Given the description of an element on the screen output the (x, y) to click on. 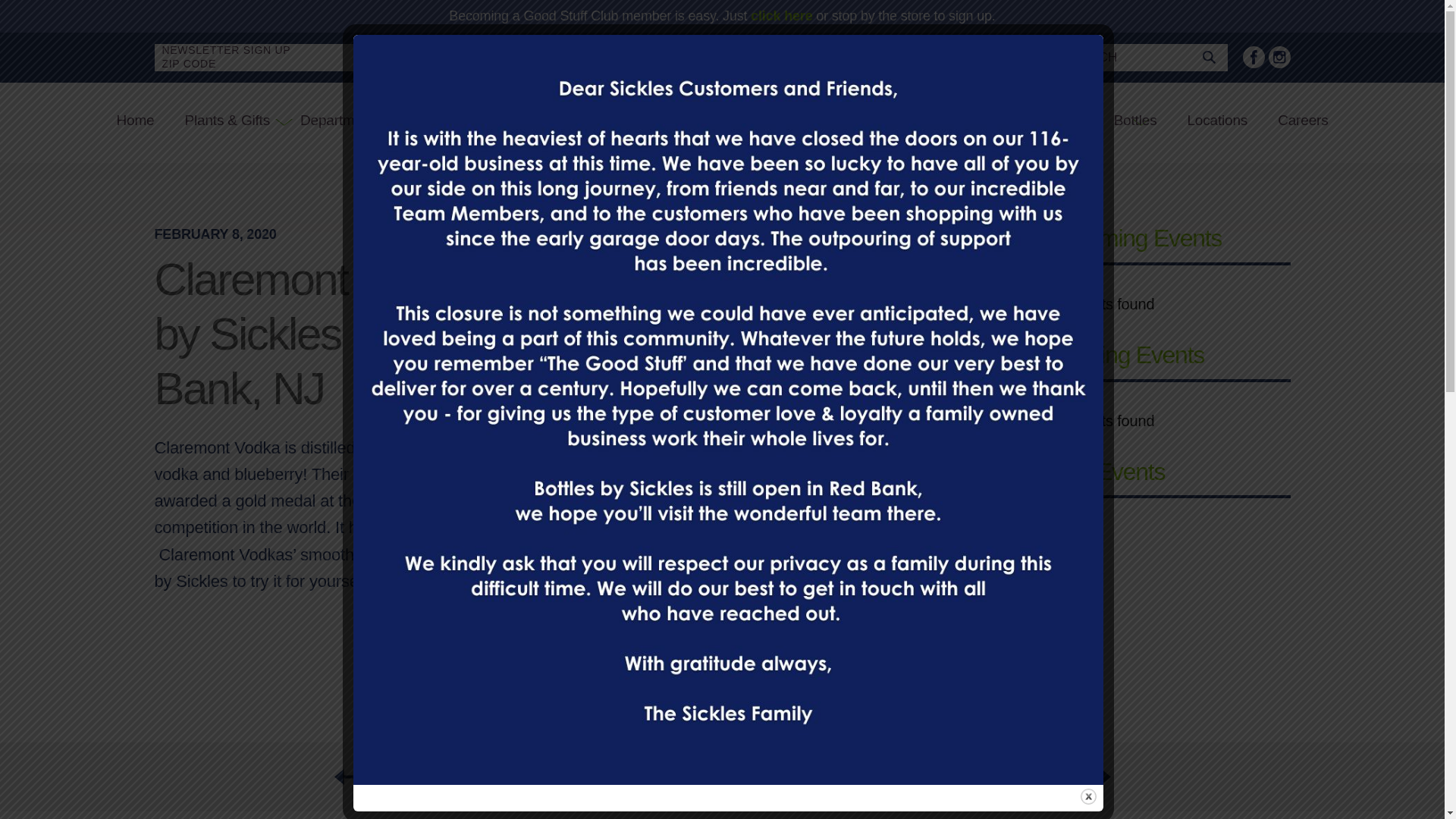
click here (781, 15)
Sickles - Since 1908 (615, 119)
Store Sales (915, 120)
Good Stuff Club (1032, 120)
instagram (1279, 56)
Close (1088, 796)
Departments (340, 120)
facebook (1252, 56)
